Given the description of an element on the screen output the (x, y) to click on. 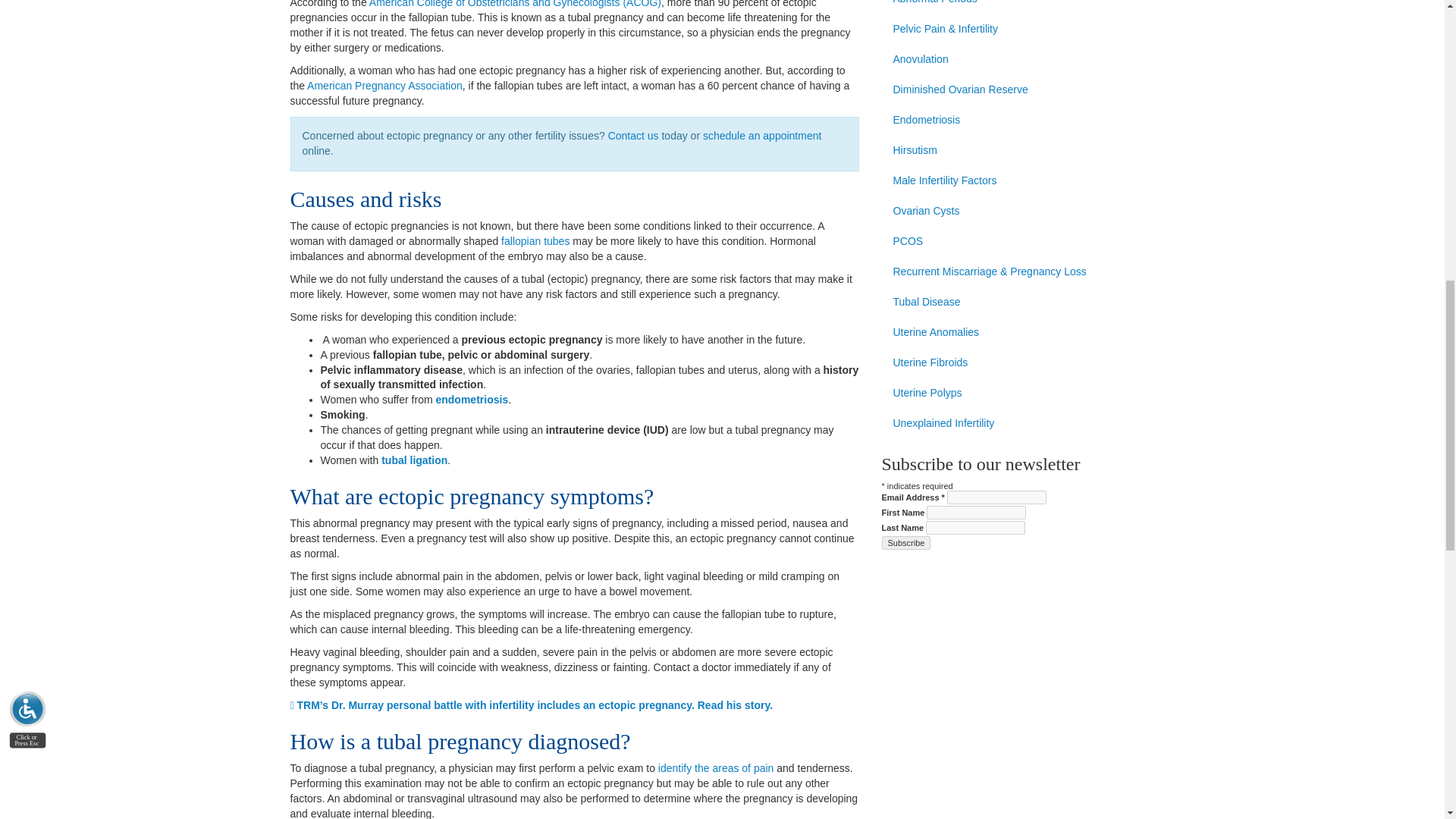
Subscribe (905, 542)
